Given the description of an element on the screen output the (x, y) to click on. 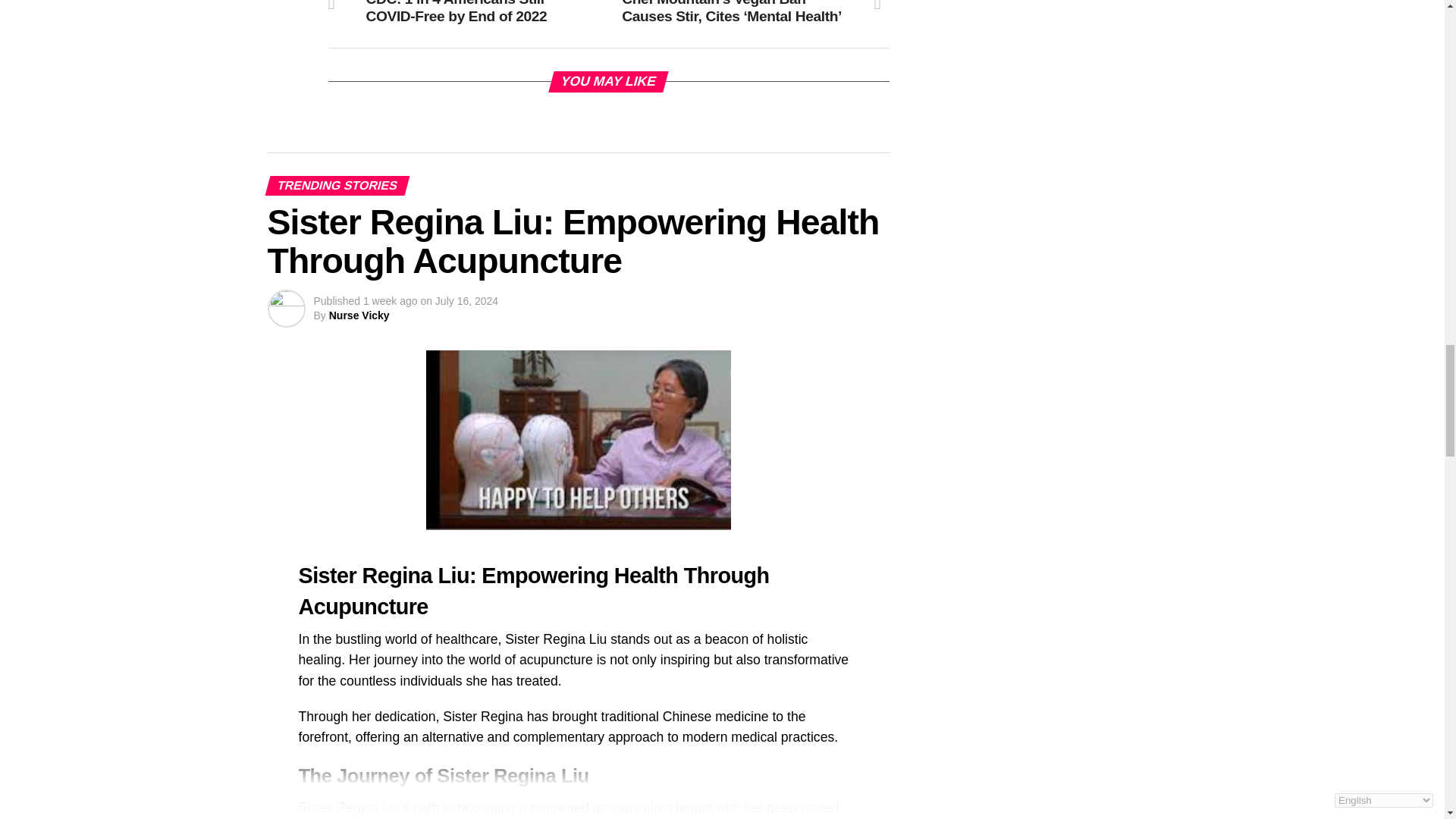
Posts by Nurse Vicky (359, 315)
